Given the description of an element on the screen output the (x, y) to click on. 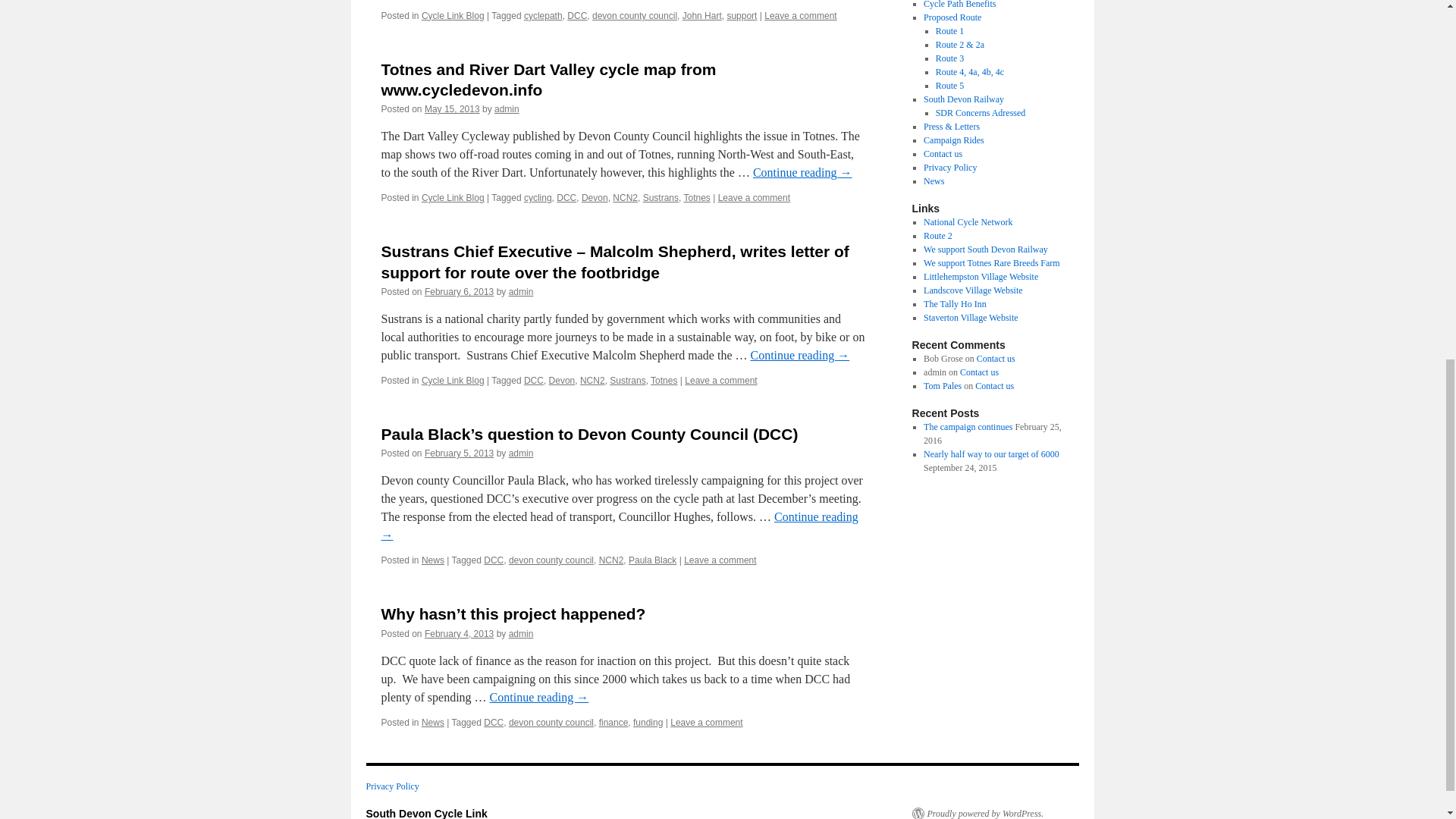
9:59 am (452, 109)
View all posts by admin (521, 452)
View all posts by admin (521, 633)
devon county council (634, 15)
View all posts by admin (507, 109)
View all posts by admin (521, 291)
11:25 am (459, 291)
5:25 pm (459, 452)
Cycle Link Blog (453, 15)
DCC (576, 15)
